Given the description of an element on the screen output the (x, y) to click on. 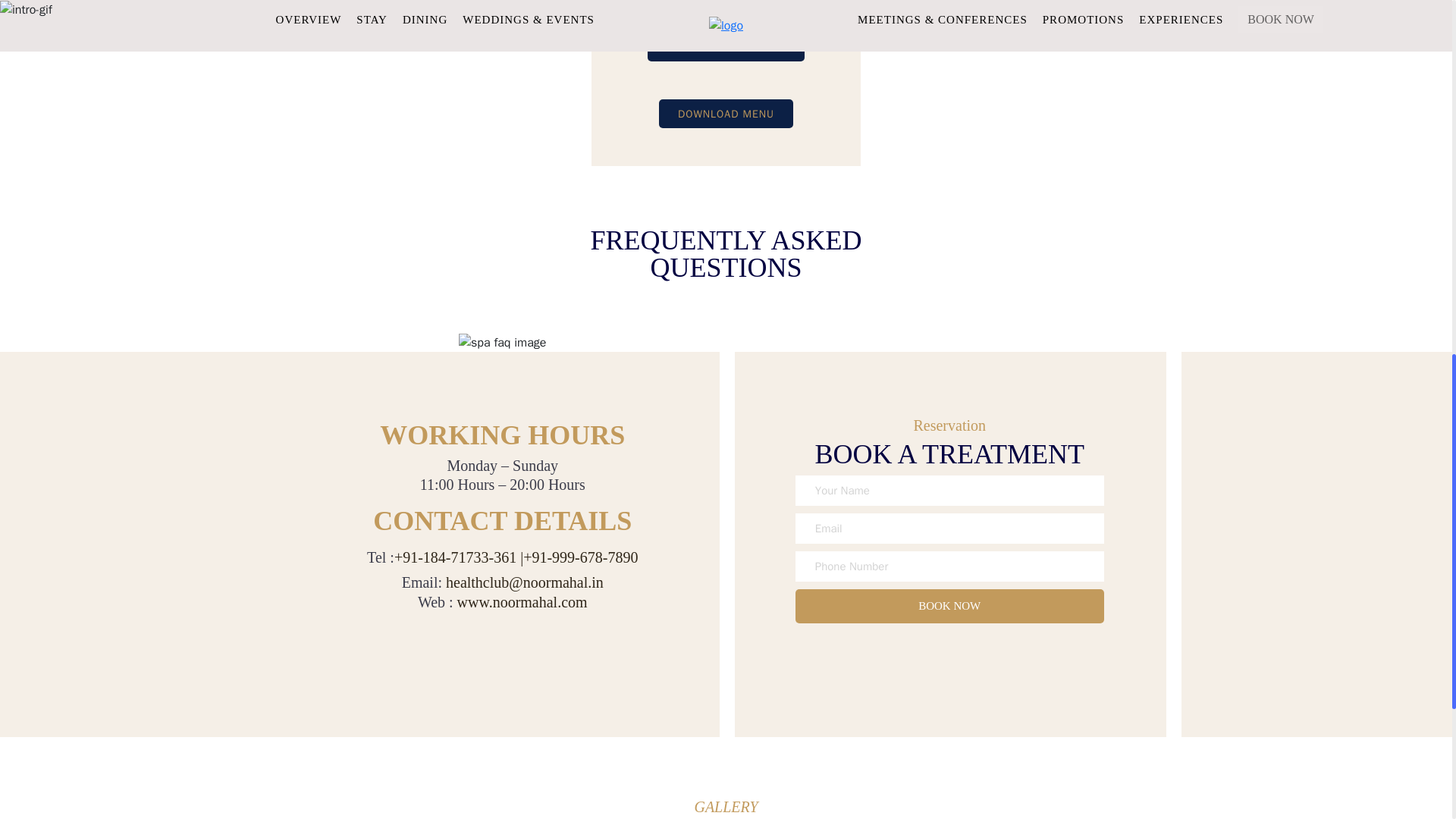
BOOK NOW (948, 605)
DOWNLOAD MENU (726, 113)
GET APPOINTMENT (725, 46)
www.noormahal.com (522, 602)
